Given the description of an element on the screen output the (x, y) to click on. 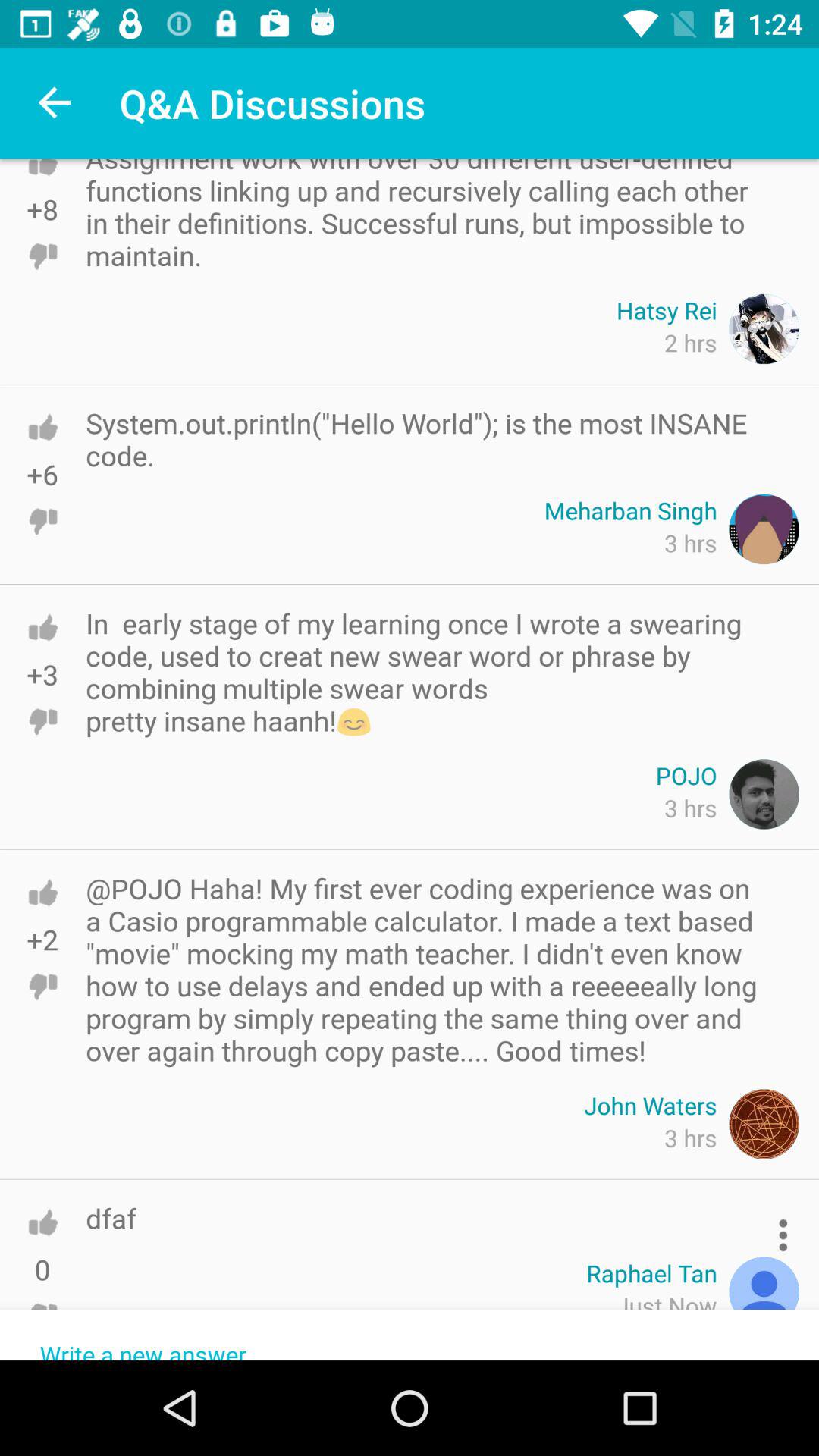
give upvote (42, 627)
